Given the description of an element on the screen output the (x, y) to click on. 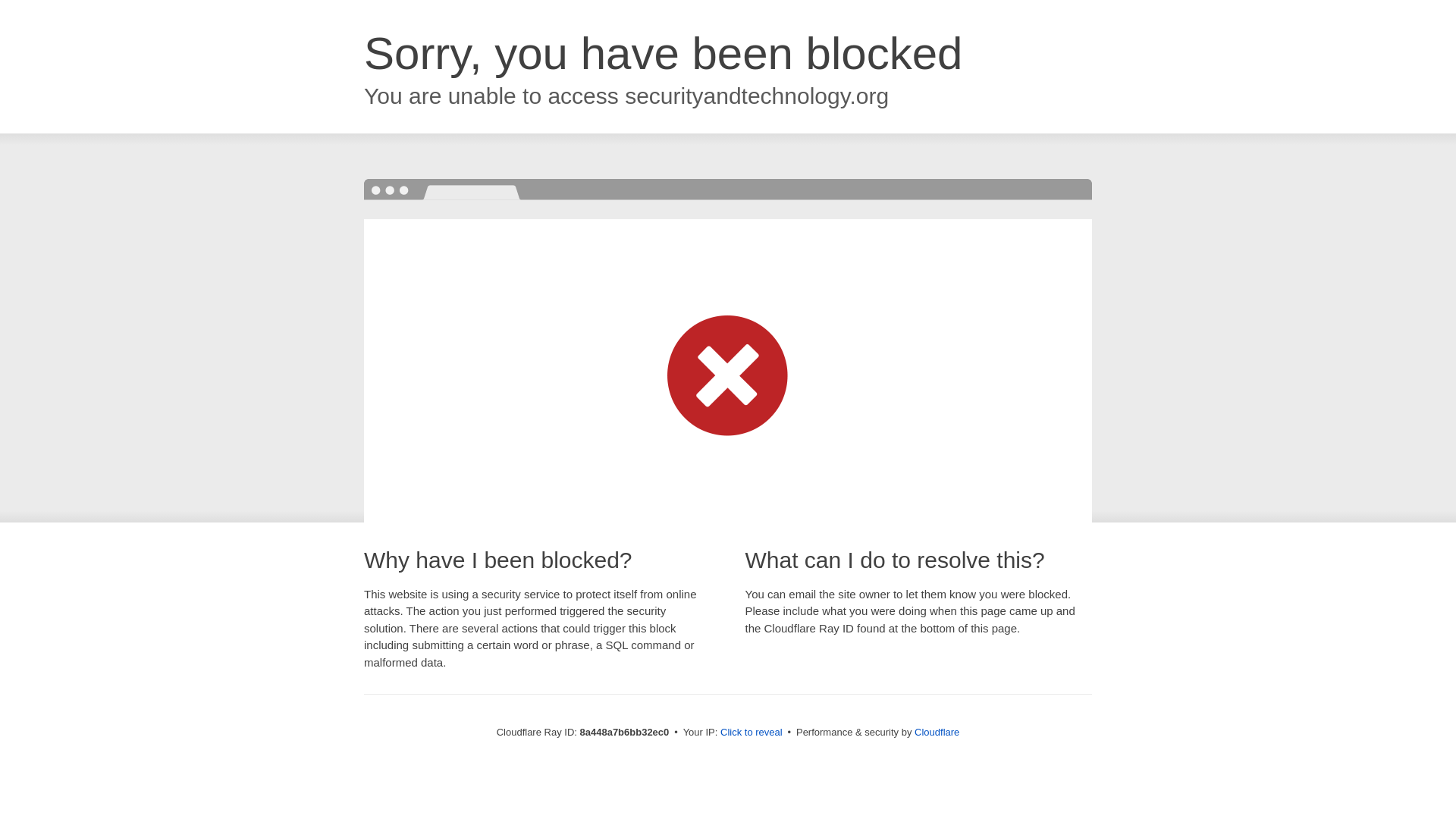
Click to reveal (751, 732)
Cloudflare (936, 731)
